Given the description of an element on the screen output the (x, y) to click on. 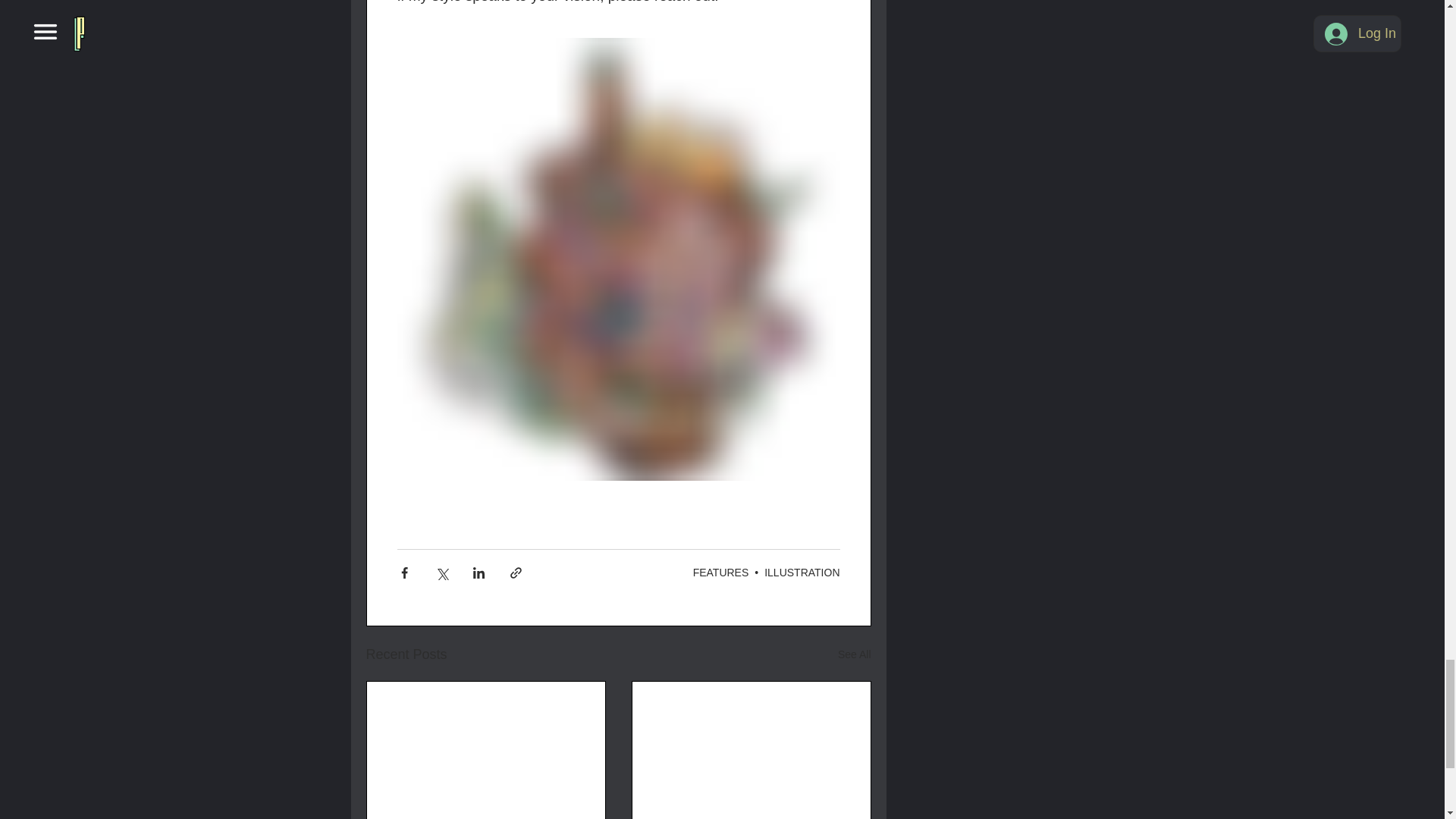
FEATURES (721, 572)
ILLUSTRATION (802, 572)
See All (854, 654)
